Given the description of an element on the screen output the (x, y) to click on. 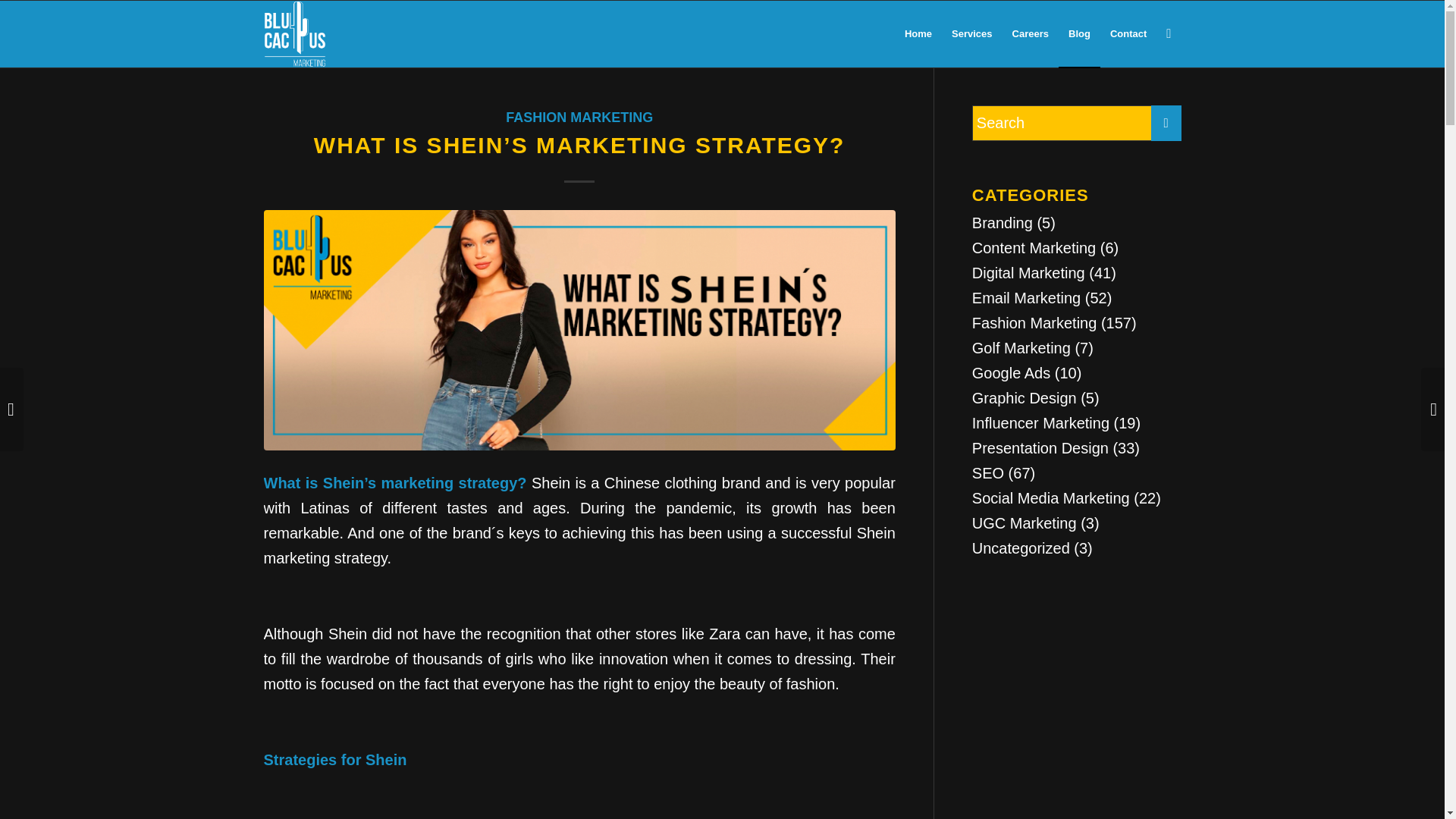
Services (972, 33)
FASHION MARKETING (578, 117)
